Given the description of an element on the screen output the (x, y) to click on. 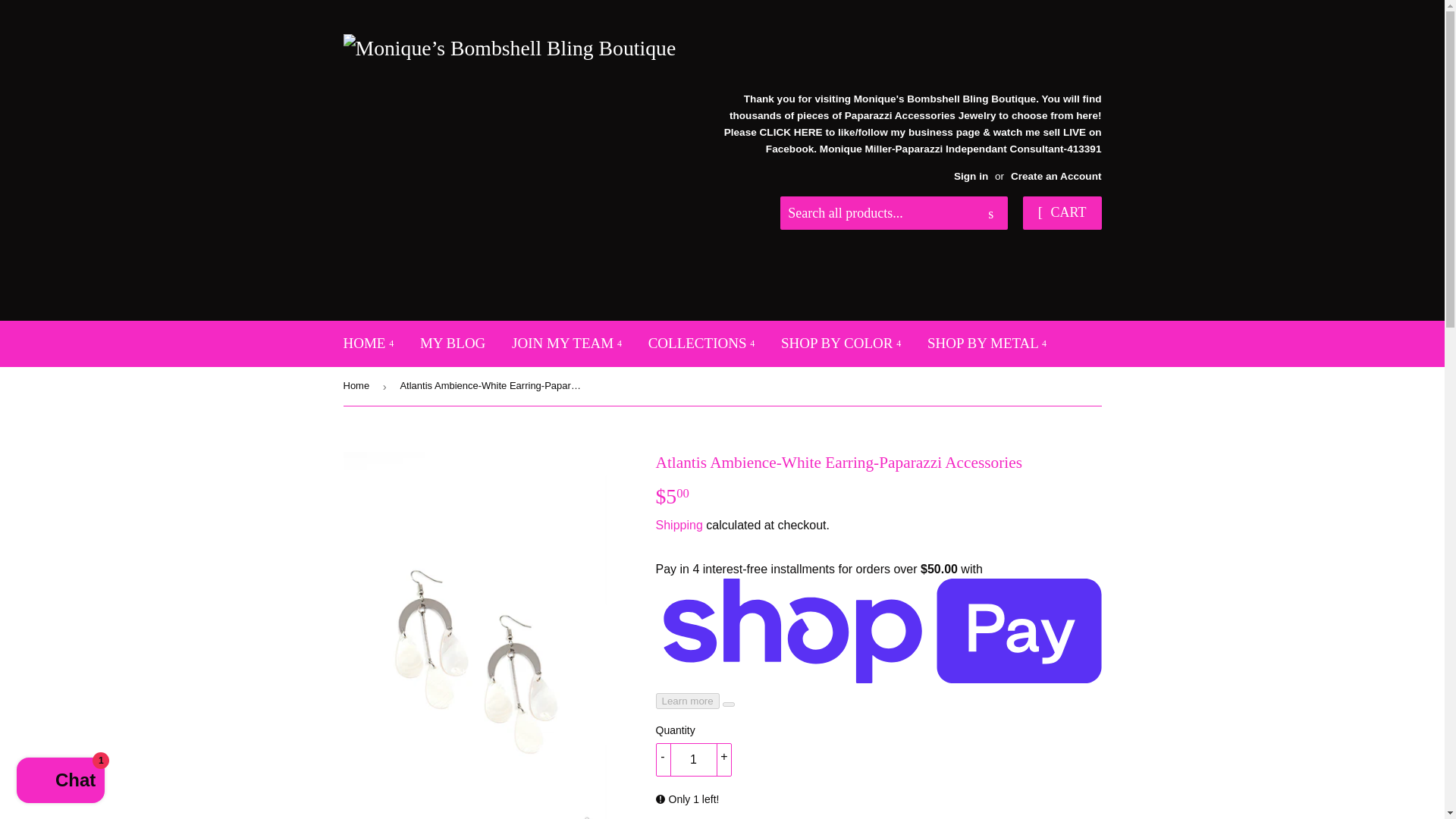
CART (1062, 213)
Create an Account (1056, 175)
1 (692, 759)
Search (990, 214)
Sign in (970, 175)
Shopify online store chat (60, 781)
